Given the description of an element on the screen output the (x, y) to click on. 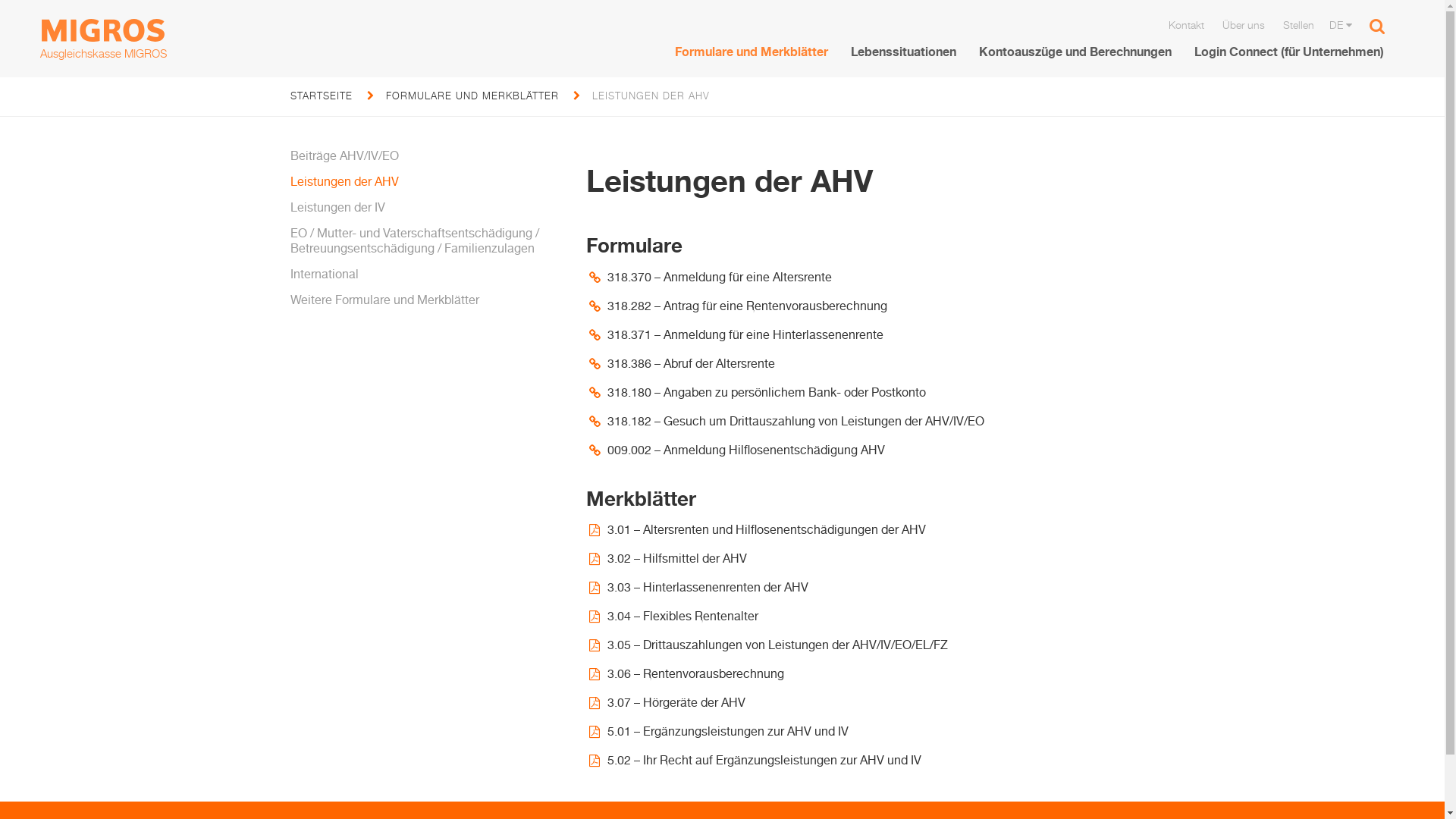
Ausgleichskasse MIGROS Element type: text (102, 38)
STARTSEITE Element type: text (320, 95)
Leistungen der AHV Element type: text (425, 179)
International Element type: text (425, 272)
Lebenssituationen Element type: text (903, 51)
DE Element type: text (1340, 24)
 Kontakt Element type: text (1184, 24)
Leistungen der IV Element type: text (425, 205)
 Stellen Element type: text (1296, 24)
